Given the description of an element on the screen output the (x, y) to click on. 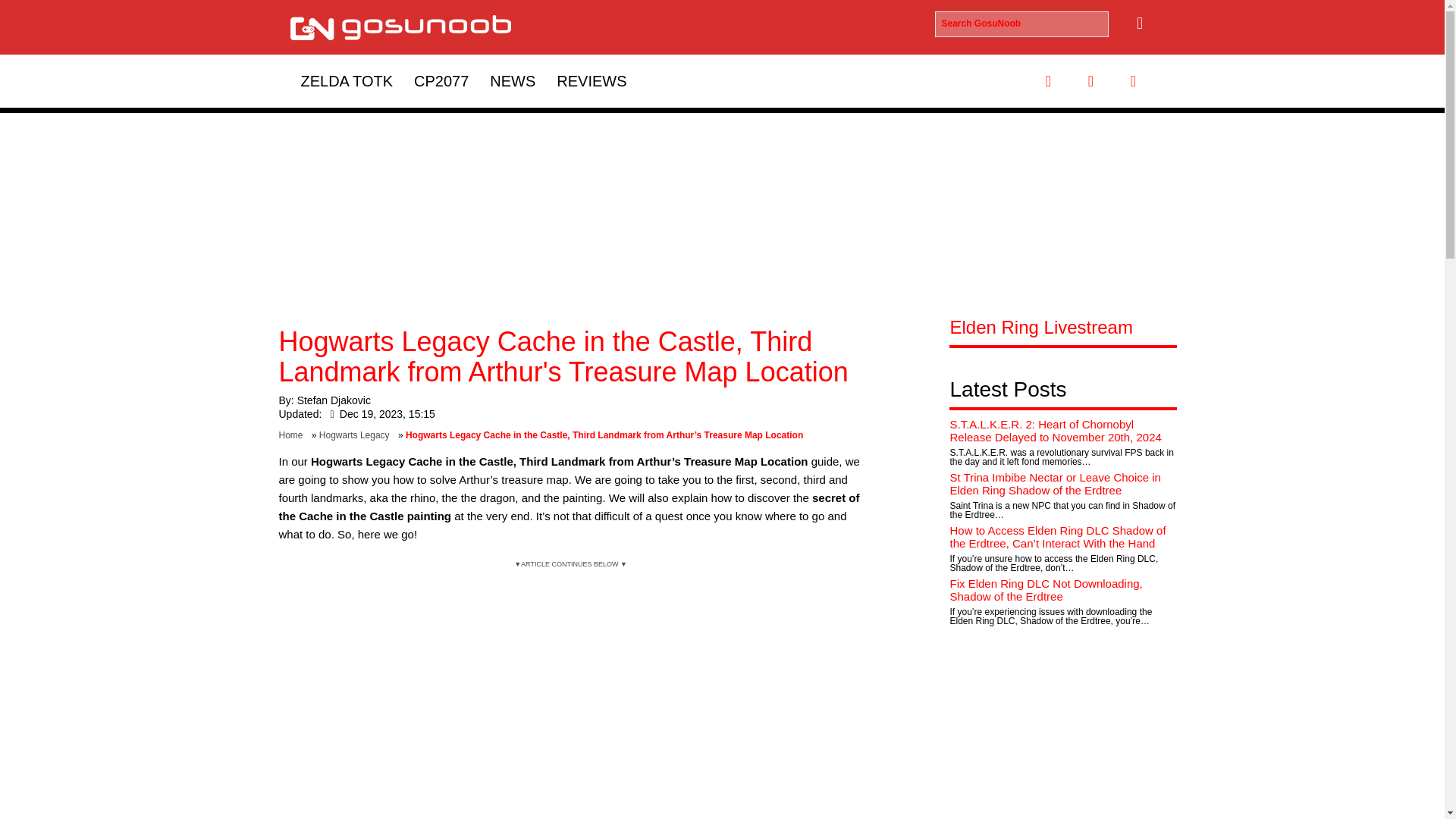
Fix Elden Ring DLC Not Downloading, Shadow of the Erdtree (1045, 589)
Twitter Profile (1090, 80)
REVIEWS (591, 80)
Home (293, 434)
ZELDA TOTK (346, 80)
NEWS (512, 80)
Cyberpunk 2077 (441, 80)
CP2077 (441, 80)
Youtube Channel (1133, 80)
Hogwarts Legacy (357, 434)
Stefan Djakovic (334, 399)
Facebook Profile page (1047, 80)
